Given the description of an element on the screen output the (x, y) to click on. 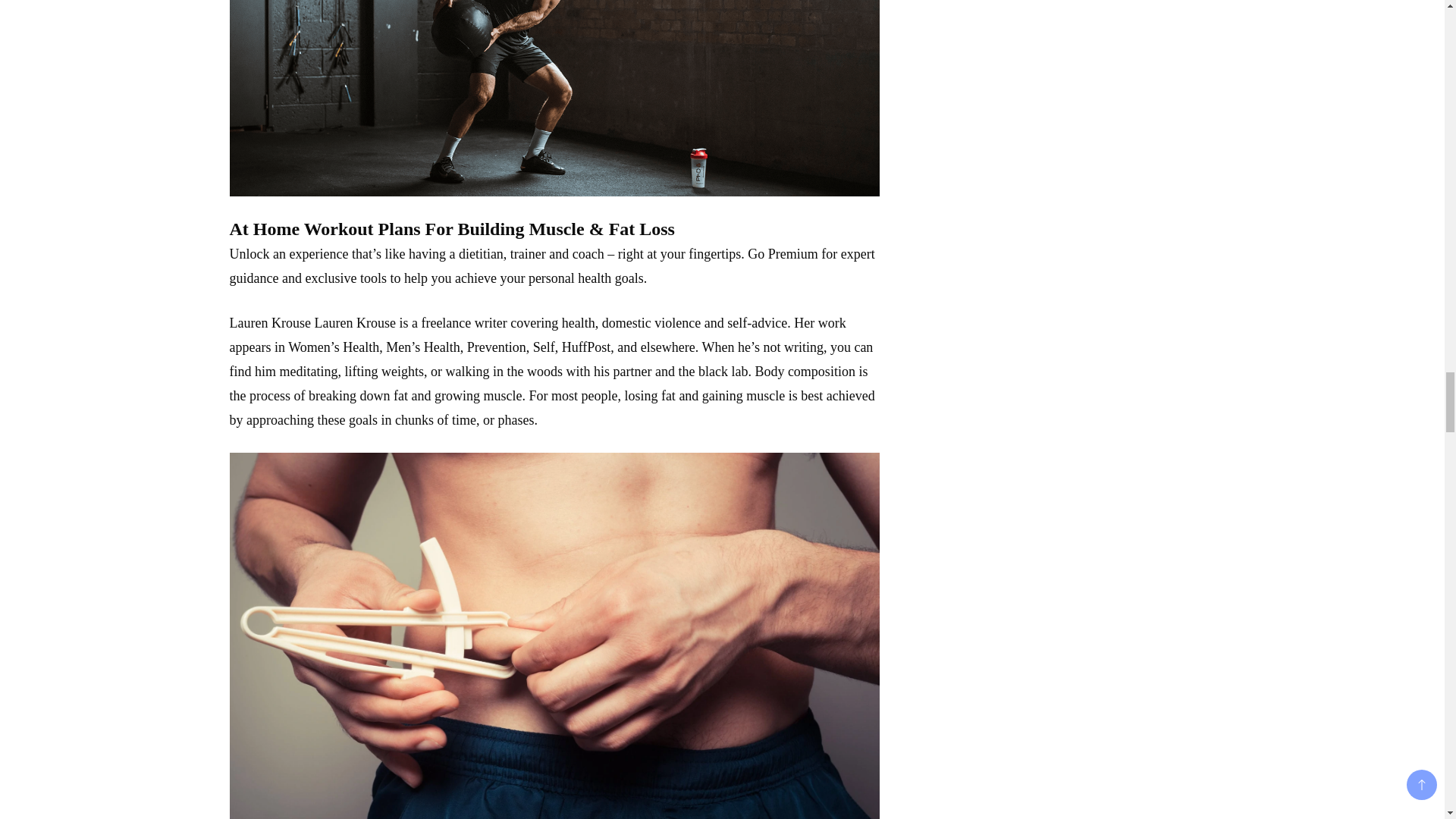
How To Lose Weight And Gain Muscle (553, 98)
